Given the description of an element on the screen output the (x, y) to click on. 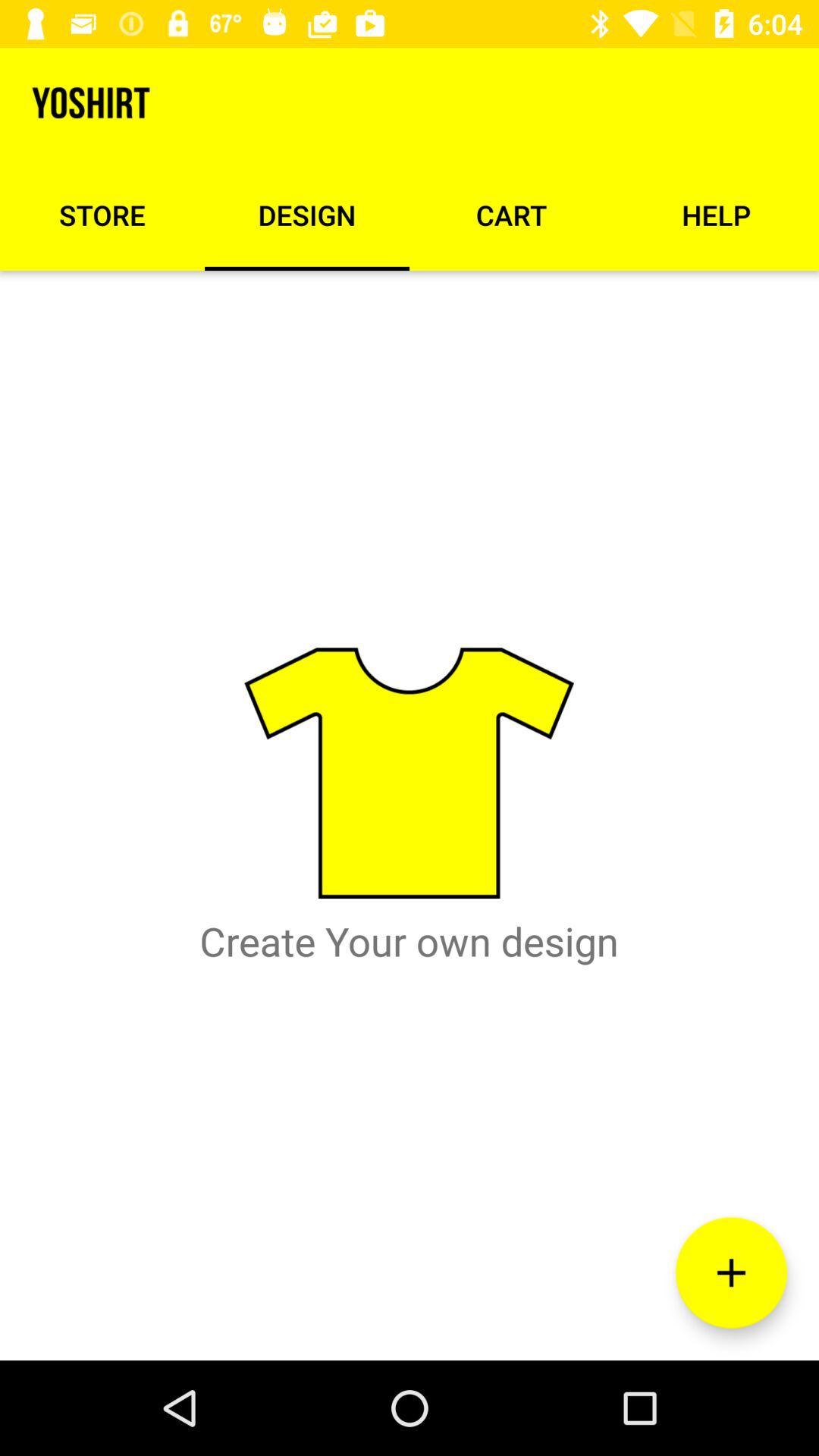
turn on the item at the bottom right corner (731, 1272)
